Given the description of an element on the screen output the (x, y) to click on. 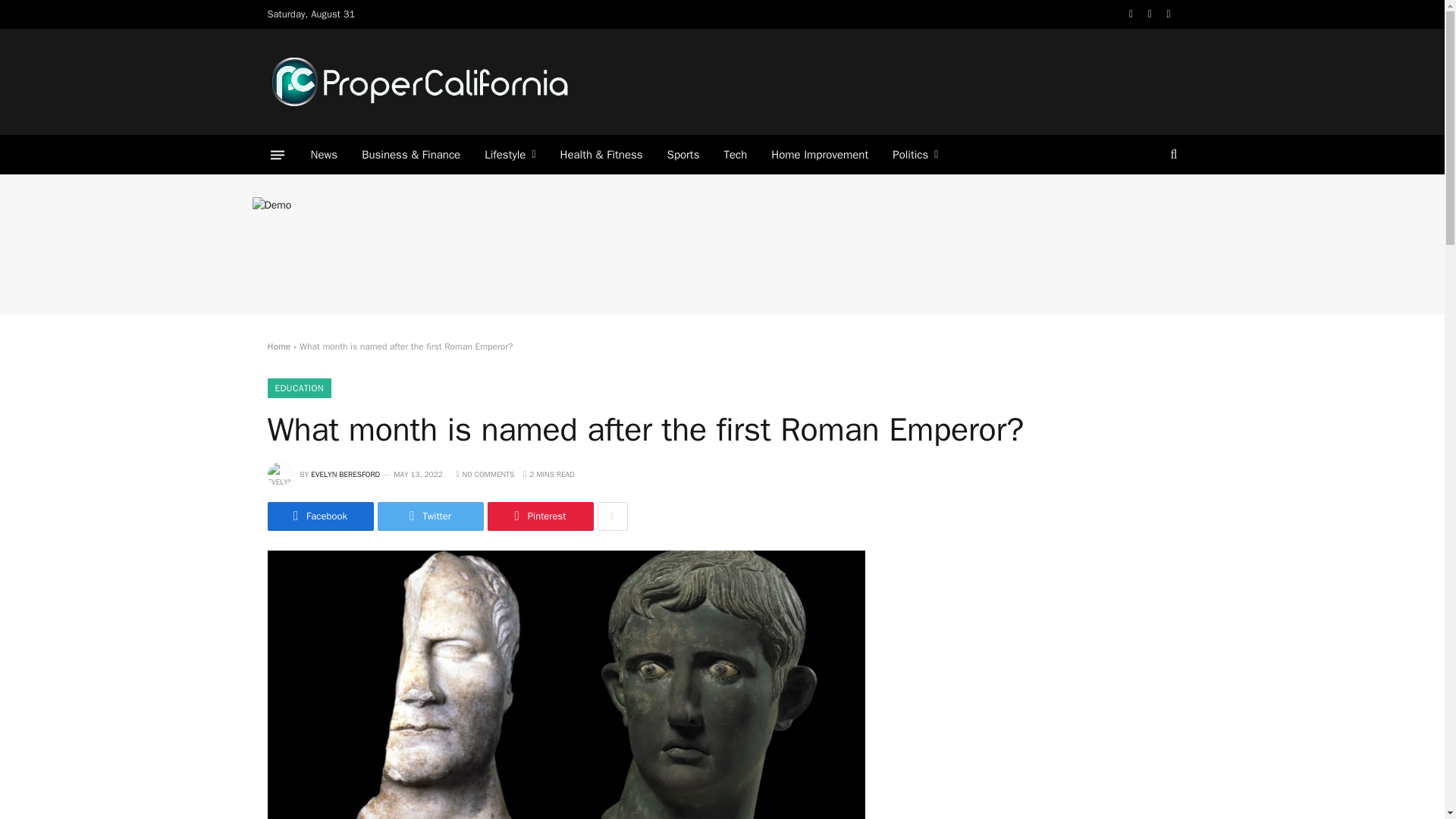
Lifestyle (509, 154)
Posts by Evelyn Beresford (345, 474)
Sports (683, 154)
Tech (734, 154)
Share on Pinterest (539, 516)
Propercalifornia (418, 81)
News (324, 154)
Share on Facebook (319, 516)
